Given the description of an element on the screen output the (x, y) to click on. 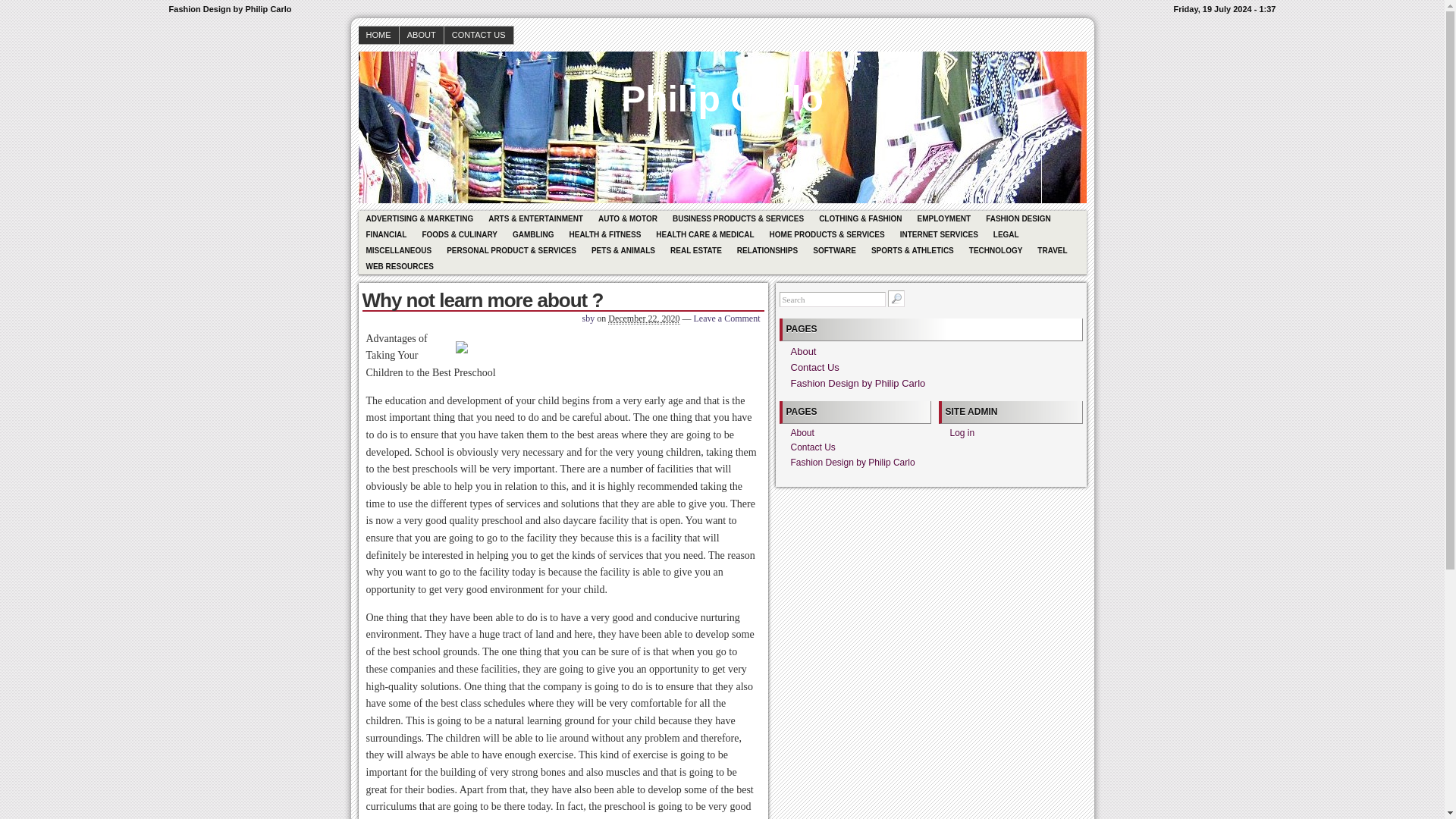
Fashion Design by Philip Carlo (857, 383)
GAMBLING (532, 234)
FASHION DESIGN (1018, 218)
LEGAL (1005, 234)
Fashion Design by Philip Carlo (722, 88)
TECHNOLOGY (995, 250)
site information (721, 9)
About (802, 351)
FINANCIAL (385, 234)
TRAVEL (1051, 250)
About (801, 432)
sby (588, 317)
Philip Carlo (722, 88)
Contact Us (814, 367)
WEB RESOURCES (399, 266)
